Given the description of an element on the screen output the (x, y) to click on. 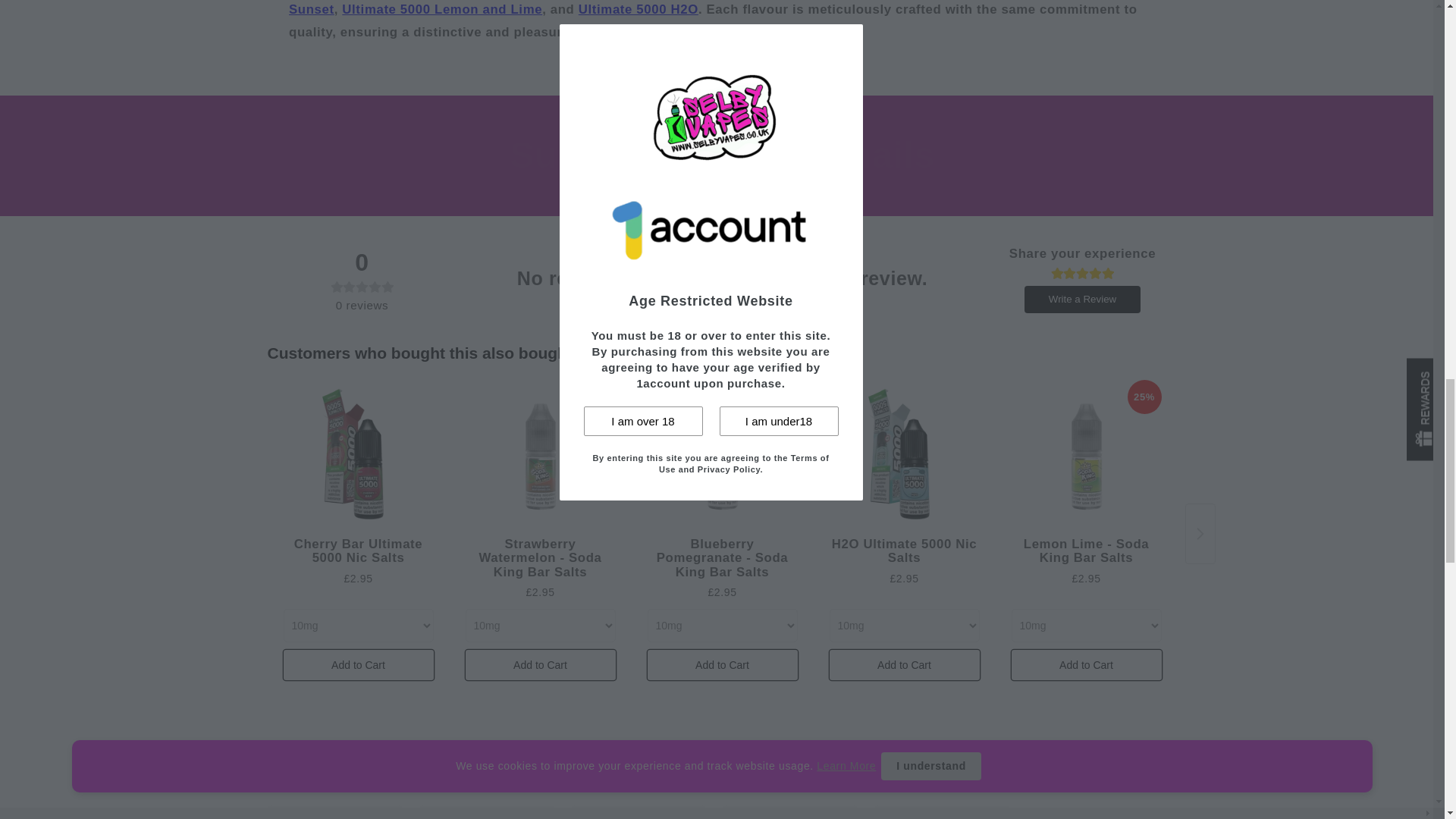
Subscribe to our emails (722, 155)
Email (722, 212)
Strawberry Watermelon - Soda King Bar Salts (540, 455)
H2O Ultimate 5000 Nic Salts (904, 455)
Cherry Bar Ultimate 5000 Nic Salts (358, 455)
H2O Ultimate 5000 Nic Salts (638, 9)
Lemon and Lime Ultimate 5000 Nic Salts (441, 9)
Dr Blue Ultimate 5000 Nic Salts (333, 813)
Hawaiian Sunset Ultimate 5000 Nic Salts (702, 8)
Blueberry Pomegranate - Soda King Bar Salts (722, 455)
Lemon Lime - Soda King Bar Salts (1086, 455)
